Given the description of an element on the screen output the (x, y) to click on. 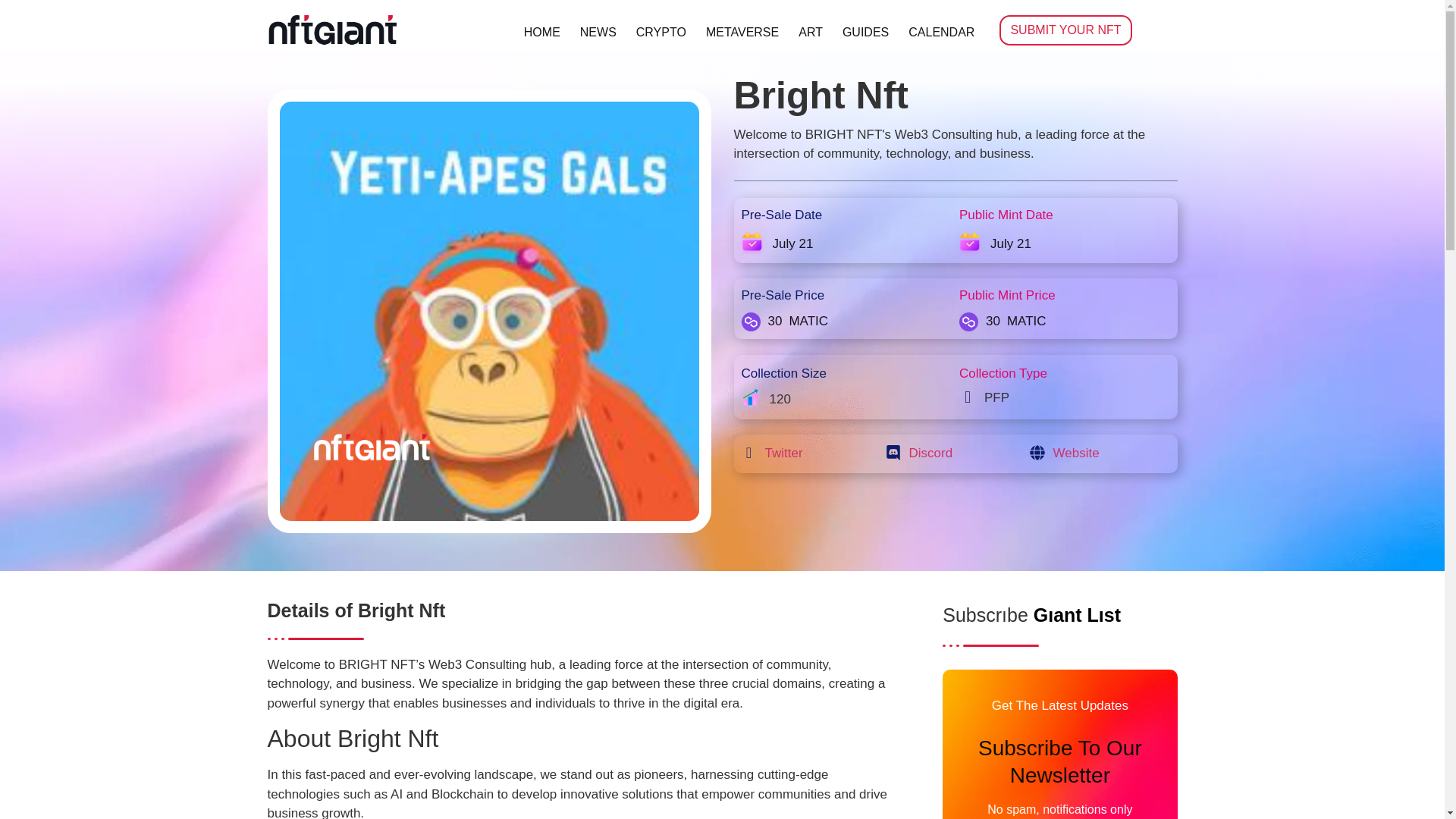
SUBMIT YOUR NFT (1064, 30)
Calendar (970, 243)
ART (810, 32)
CALENDAR (941, 32)
CRYPTO (660, 32)
GUIDES (865, 32)
Twitter (783, 453)
HOME (541, 32)
Polygon Icon (968, 321)
Discord (930, 453)
Polygon Icon (750, 321)
NEWS (598, 32)
Supply (750, 398)
METAVERSE (742, 32)
Calendar (751, 243)
